Given the description of an element on the screen output the (x, y) to click on. 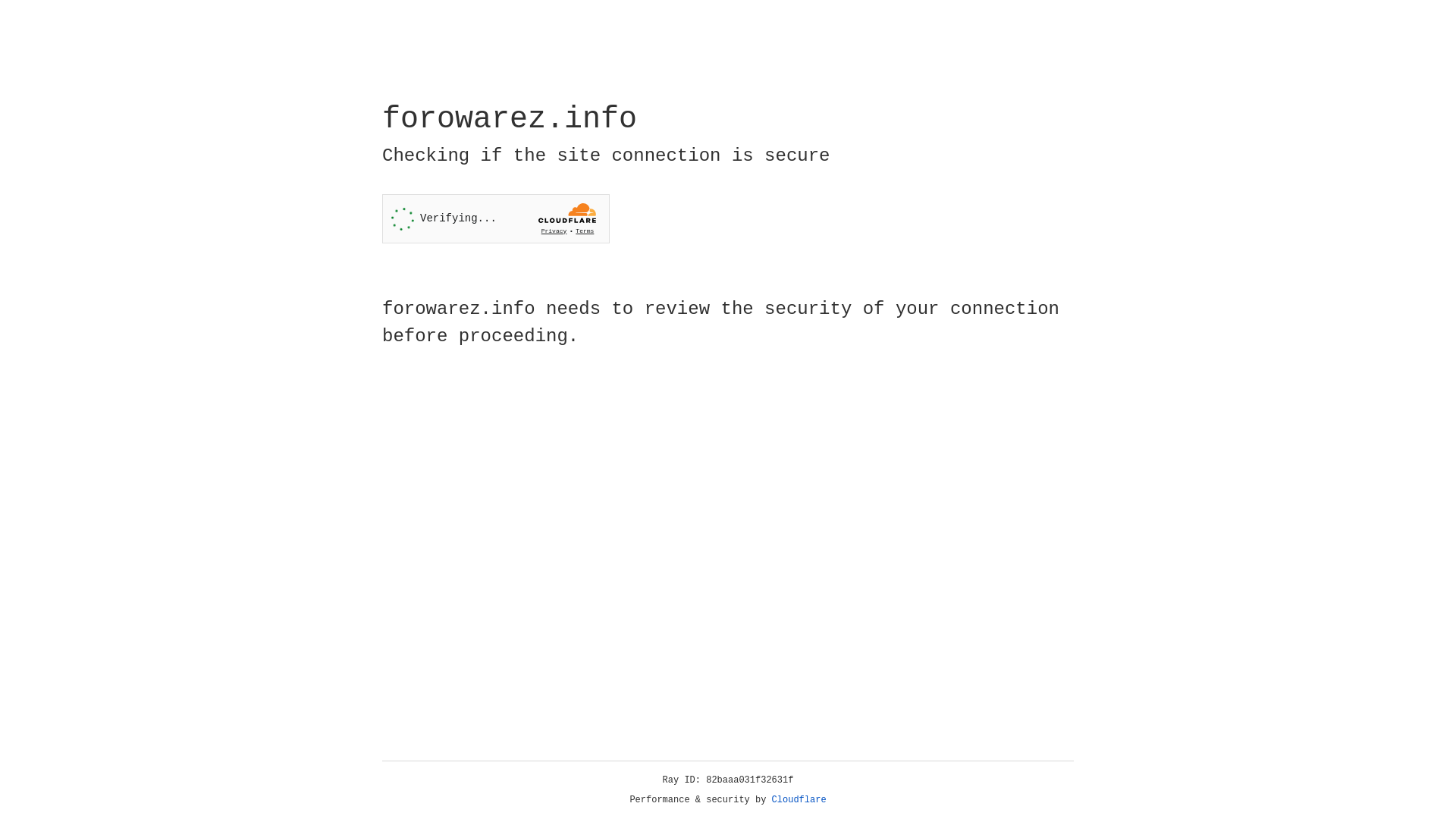
Cloudflare Element type: text (798, 799)
Widget containing a Cloudflare security challenge Element type: hover (495, 218)
